Given the description of an element on the screen output the (x, y) to click on. 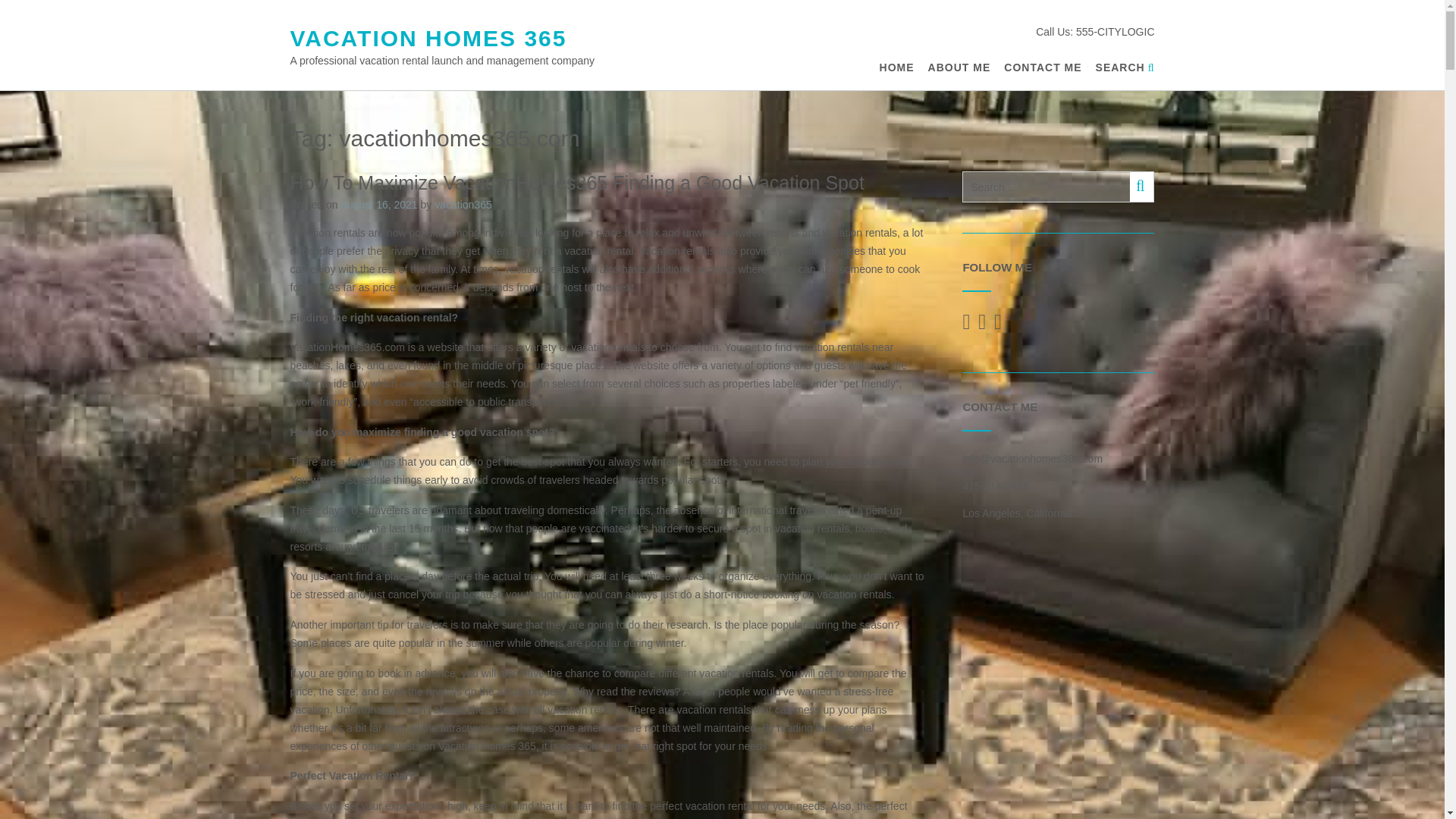
August 16, 2021 (378, 204)
SEARCH (1125, 67)
vacation365 (462, 204)
Search for: (1045, 186)
vacation homes 365 (427, 38)
ABOUT ME (959, 67)
HOME (896, 67)
VACATION HOMES 365 (427, 38)
CONTACT ME (1042, 67)
